Given the description of an element on the screen output the (x, y) to click on. 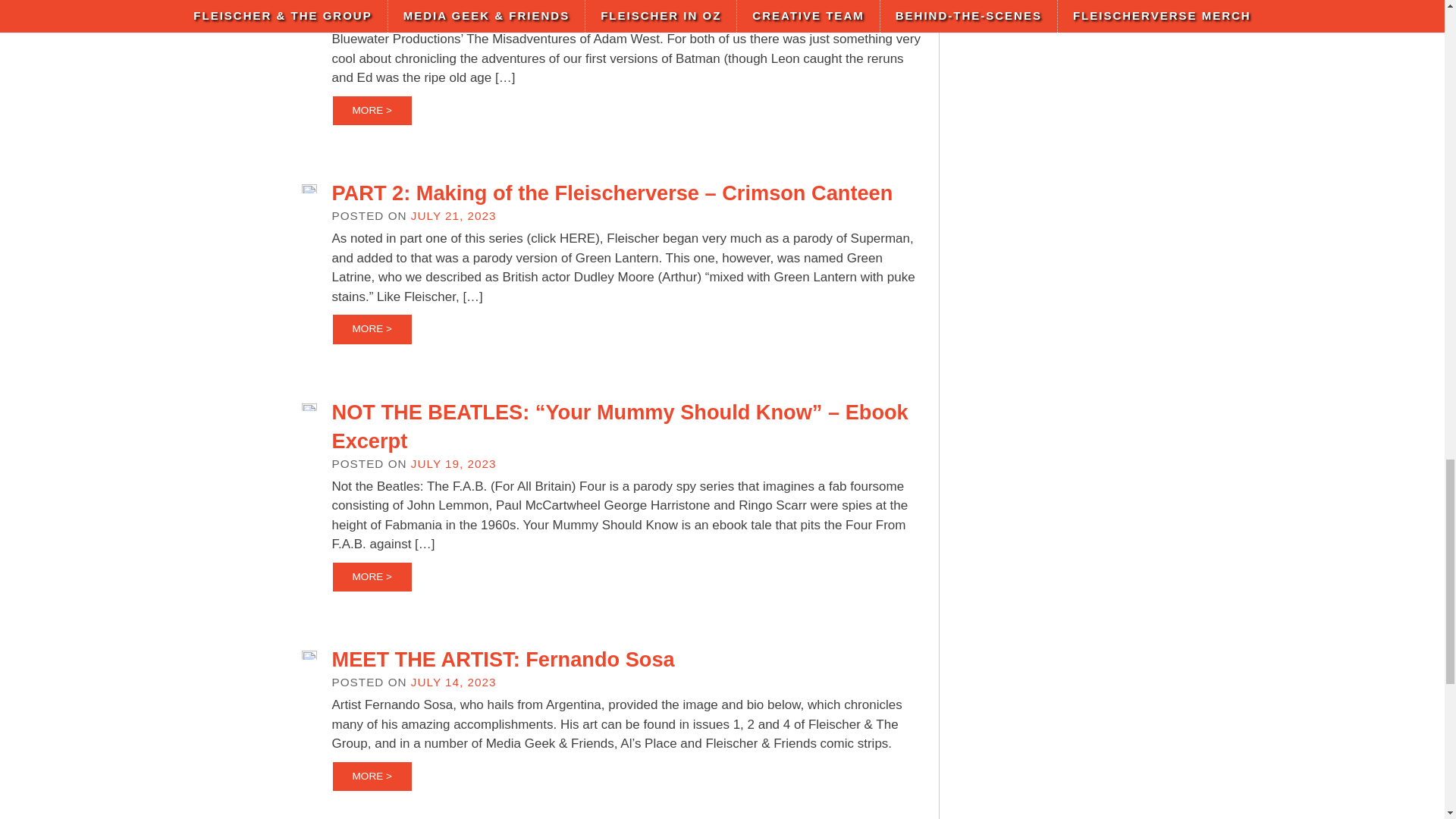
JULY 14, 2023 (453, 681)
JULY 19, 2023 (453, 463)
JULY 24, 2023 (453, 2)
MEET THE ARTIST: Fernando Sosa (503, 658)
JULY 21, 2023 (453, 215)
